Given the description of an element on the screen output the (x, y) to click on. 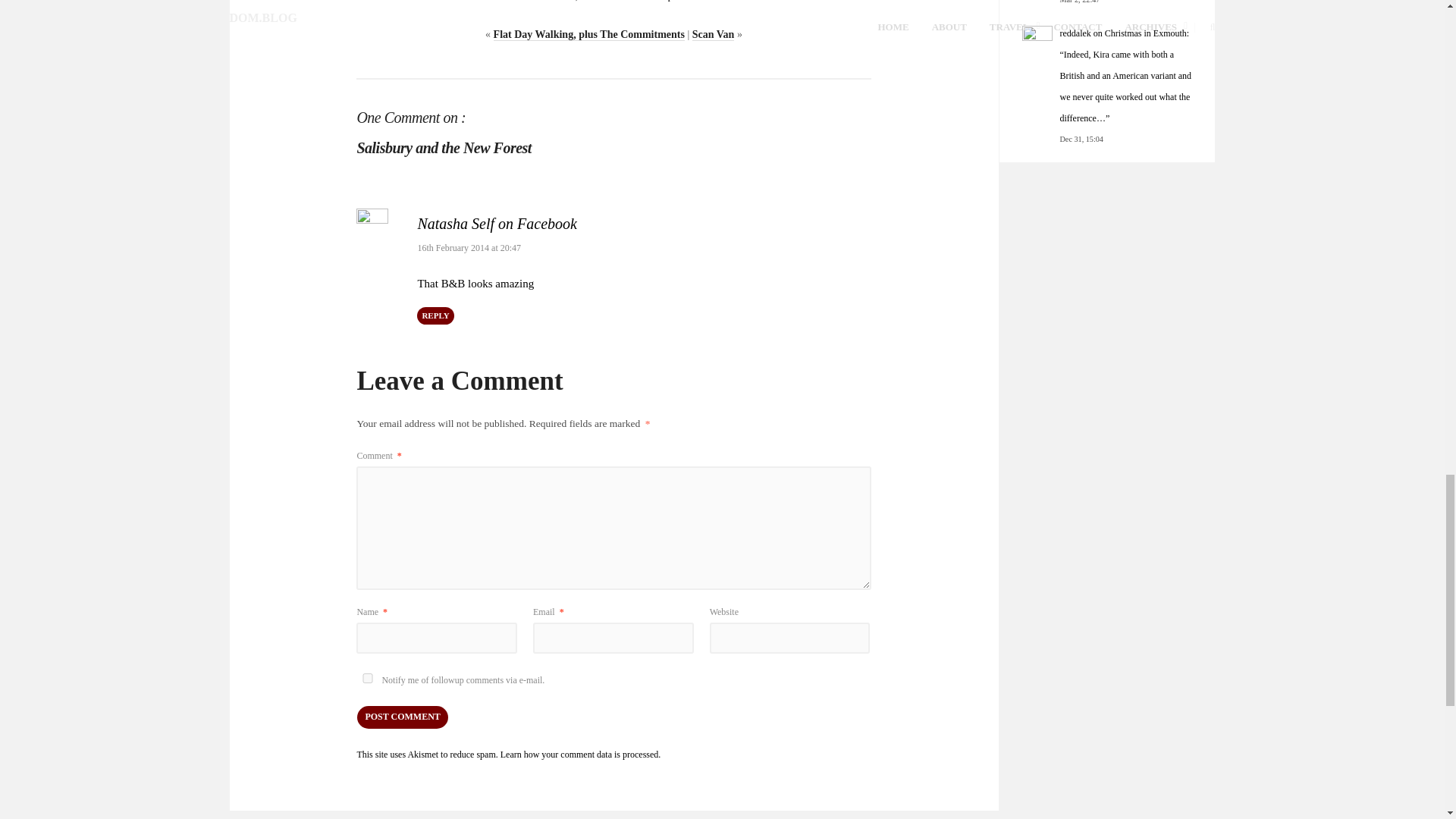
Post Comment (401, 716)
Scan Van (714, 34)
Post Comment (401, 716)
Flat Day Walking, plus The Commitments (588, 34)
Learn how your comment data is processed (579, 754)
REPLY (434, 315)
yes (367, 678)
16th February 2014 at 20:47 (468, 247)
Natasha Self on Facebook (496, 223)
